Given the description of an element on the screen output the (x, y) to click on. 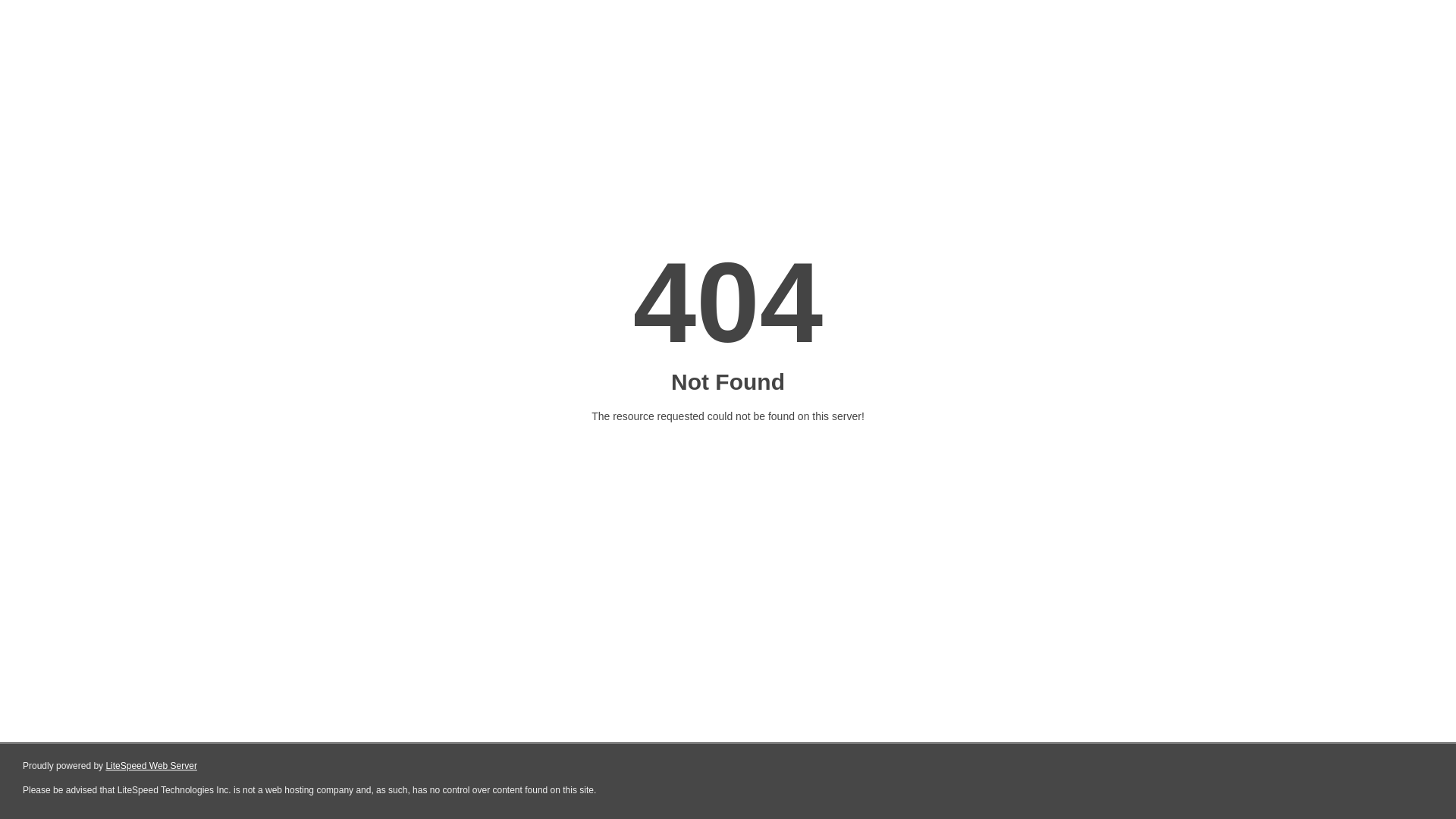
LiteSpeed Web Server Element type: text (151, 765)
